Given the description of an element on the screen output the (x, y) to click on. 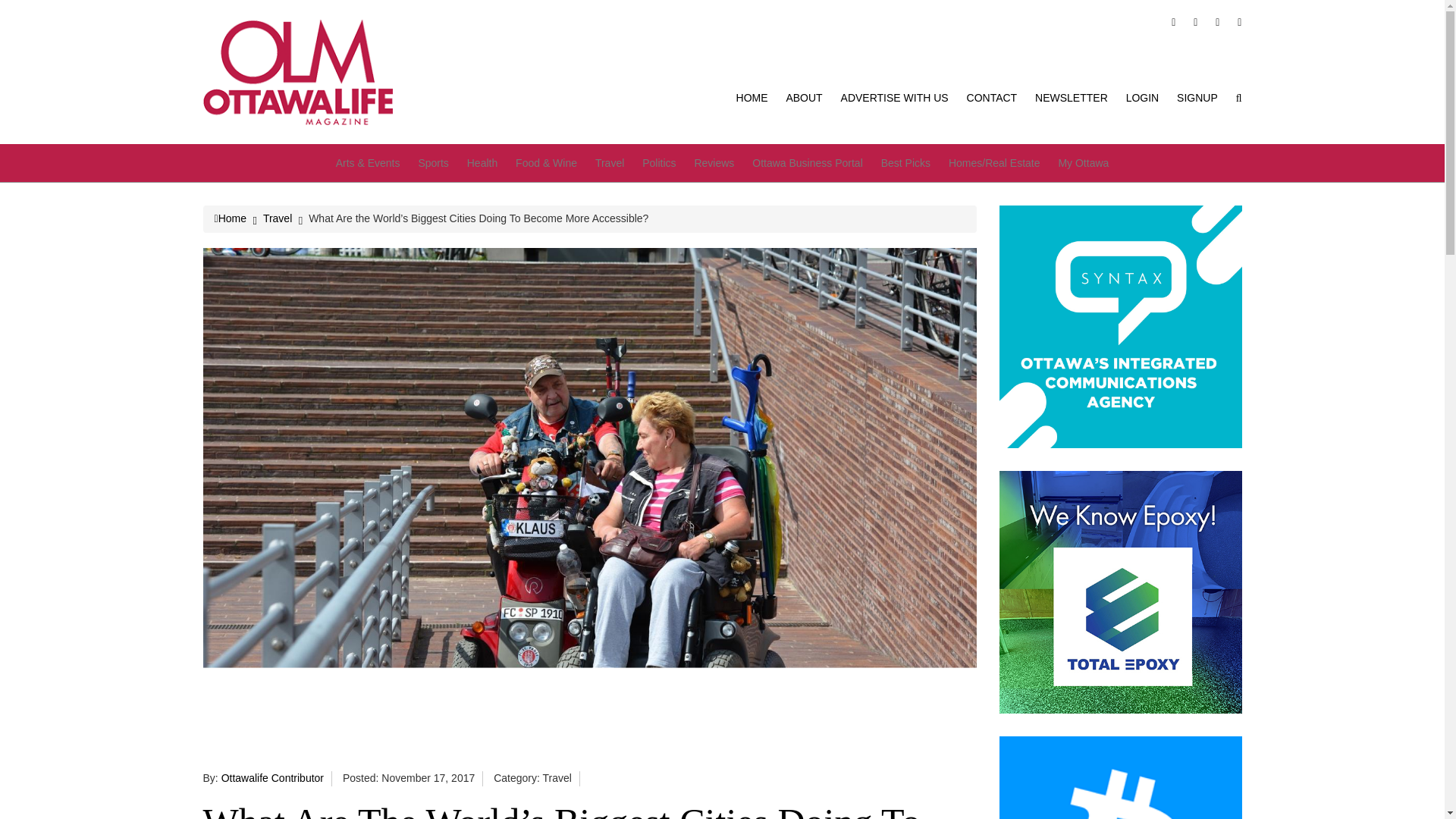
Ottawalife Contributor (272, 777)
SIGNUP (1196, 97)
ABOUT (804, 97)
LOGIN (1141, 97)
My Ottawa (1083, 162)
Best Picks (905, 162)
ADVERTISE WITH US (895, 97)
CONTACT (991, 97)
HOME (752, 97)
Ottawa Business Portal (807, 162)
